Given the description of an element on the screen output the (x, y) to click on. 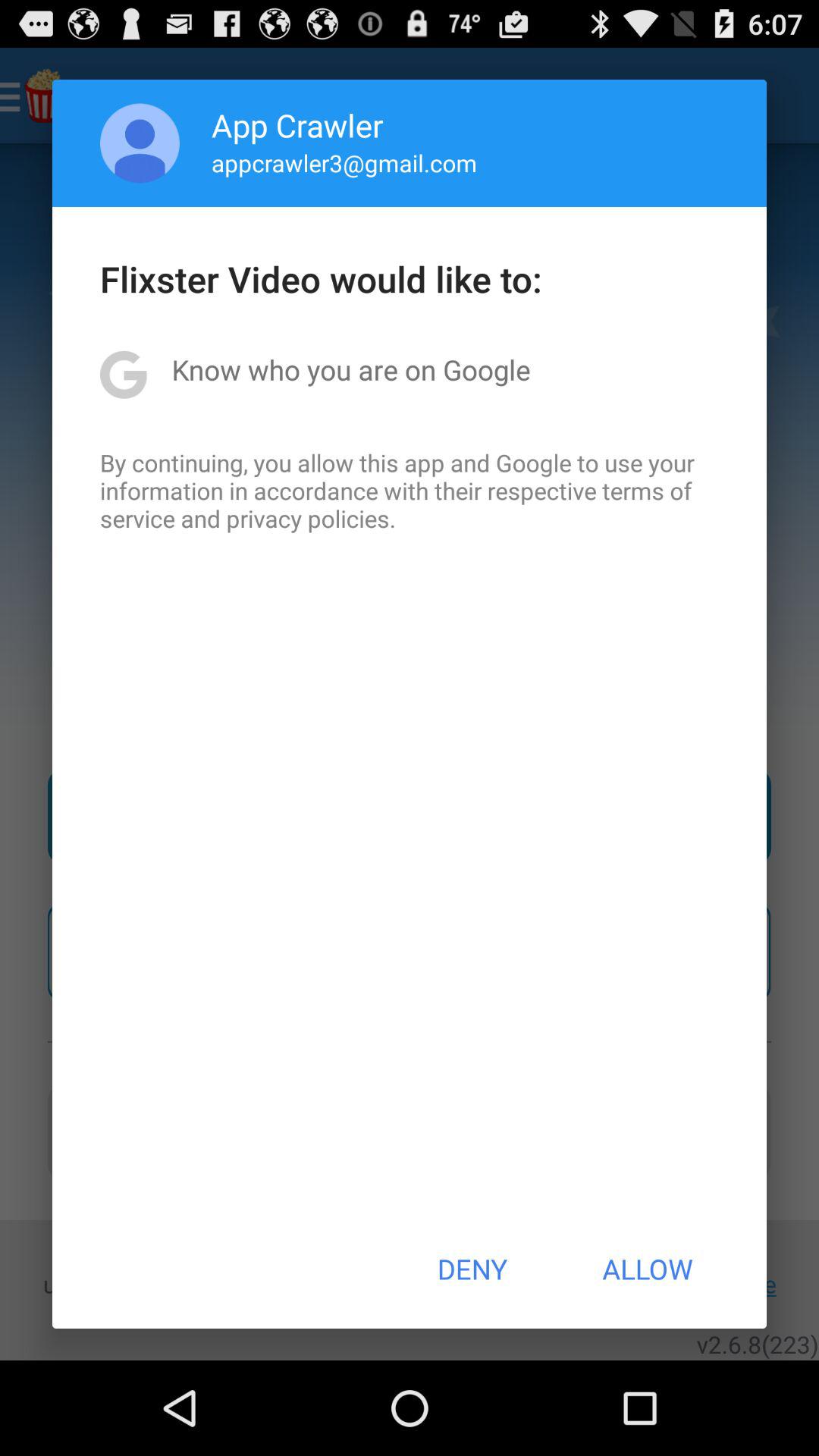
click the app to the left of app crawler app (139, 143)
